Given the description of an element on the screen output the (x, y) to click on. 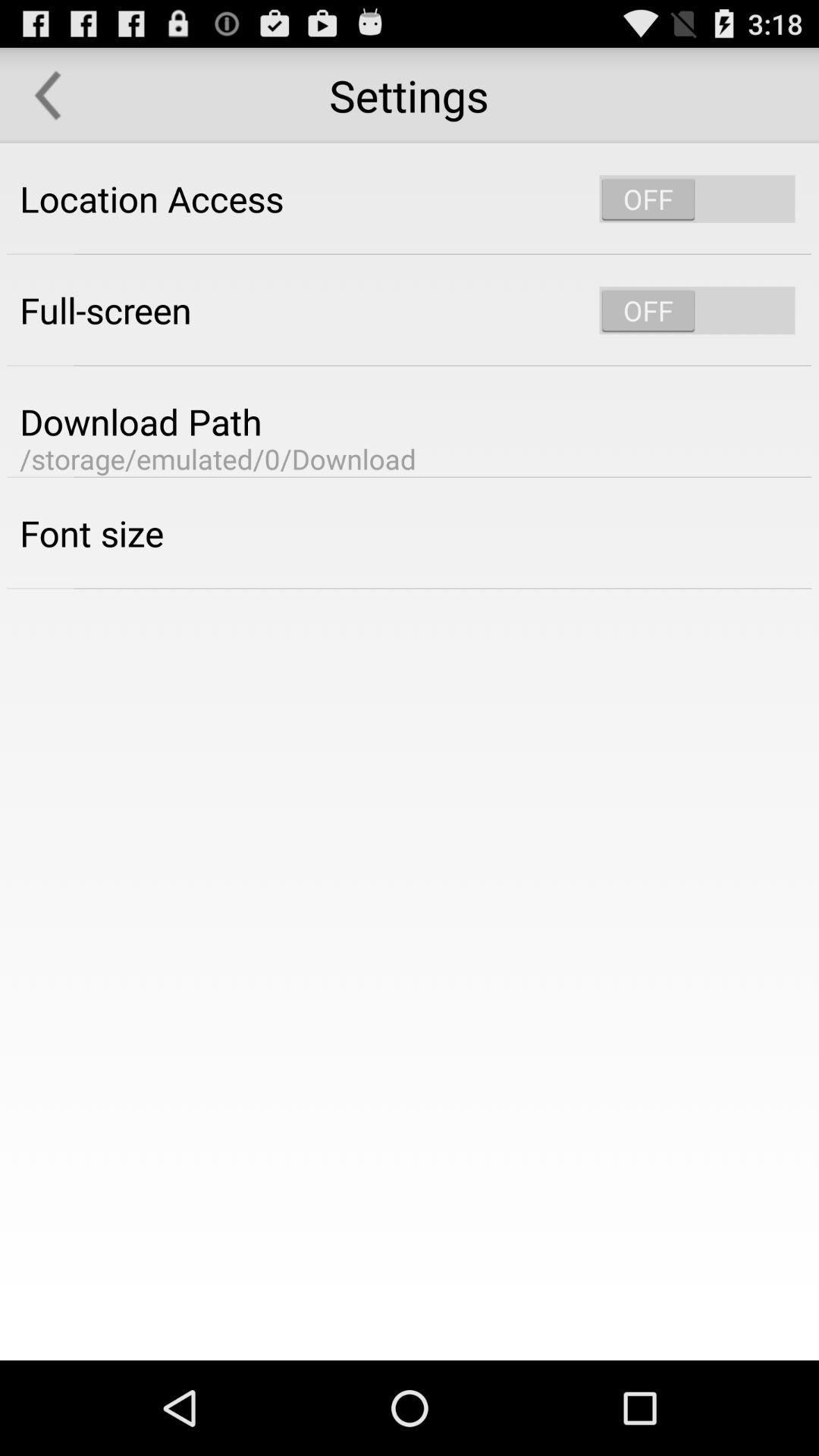
select item next to the settings icon (47, 95)
